Given the description of an element on the screen output the (x, y) to click on. 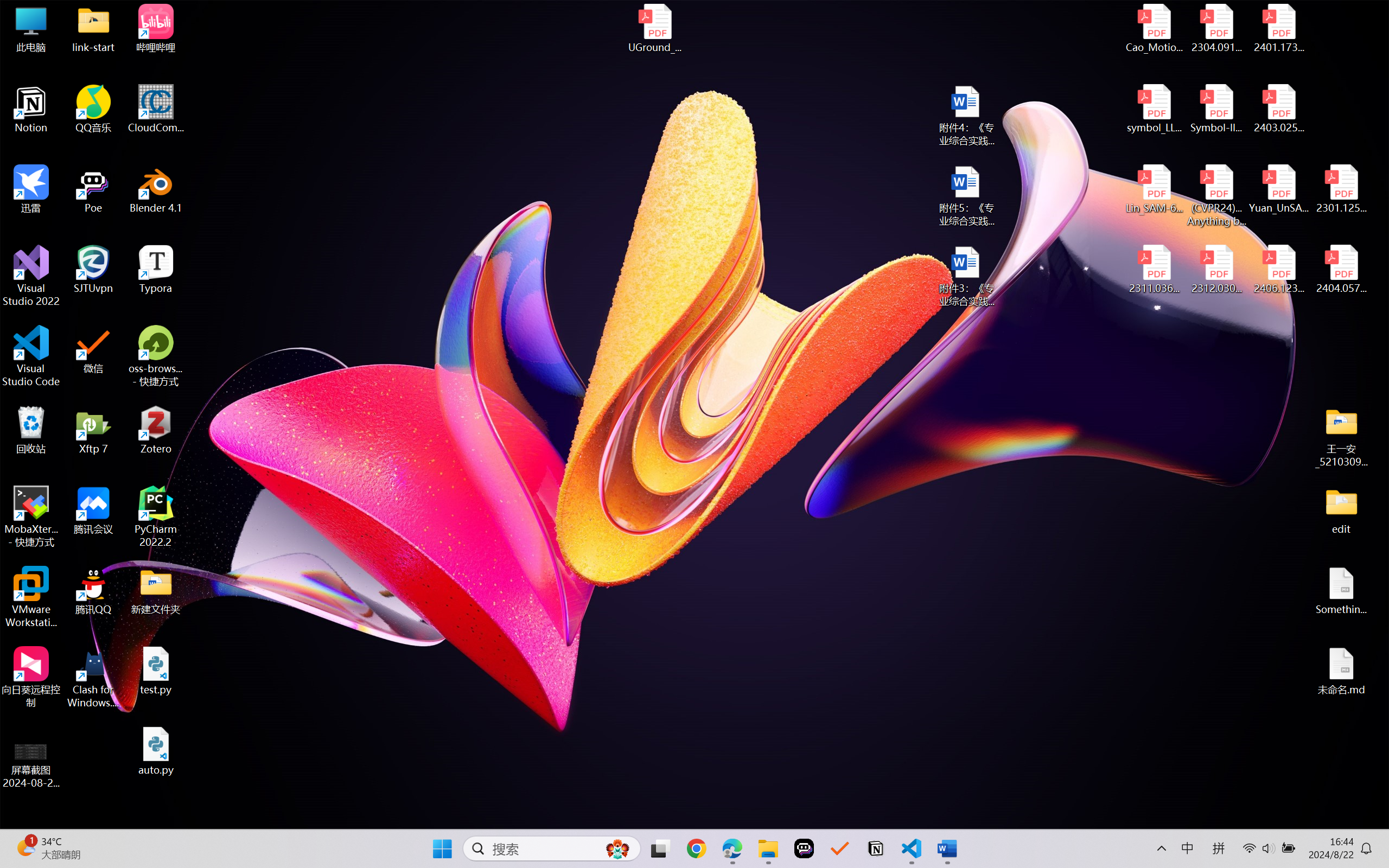
2406.12373v2.pdf (1278, 269)
2403.02502v1.pdf (1278, 109)
Blender 4.1 (156, 189)
Visual Studio 2022 (31, 276)
2404.05719v1.pdf (1340, 269)
Typora (156, 269)
2311.03658v2.pdf (1154, 269)
CloudCompare (156, 109)
